Given the description of an element on the screen output the (x, y) to click on. 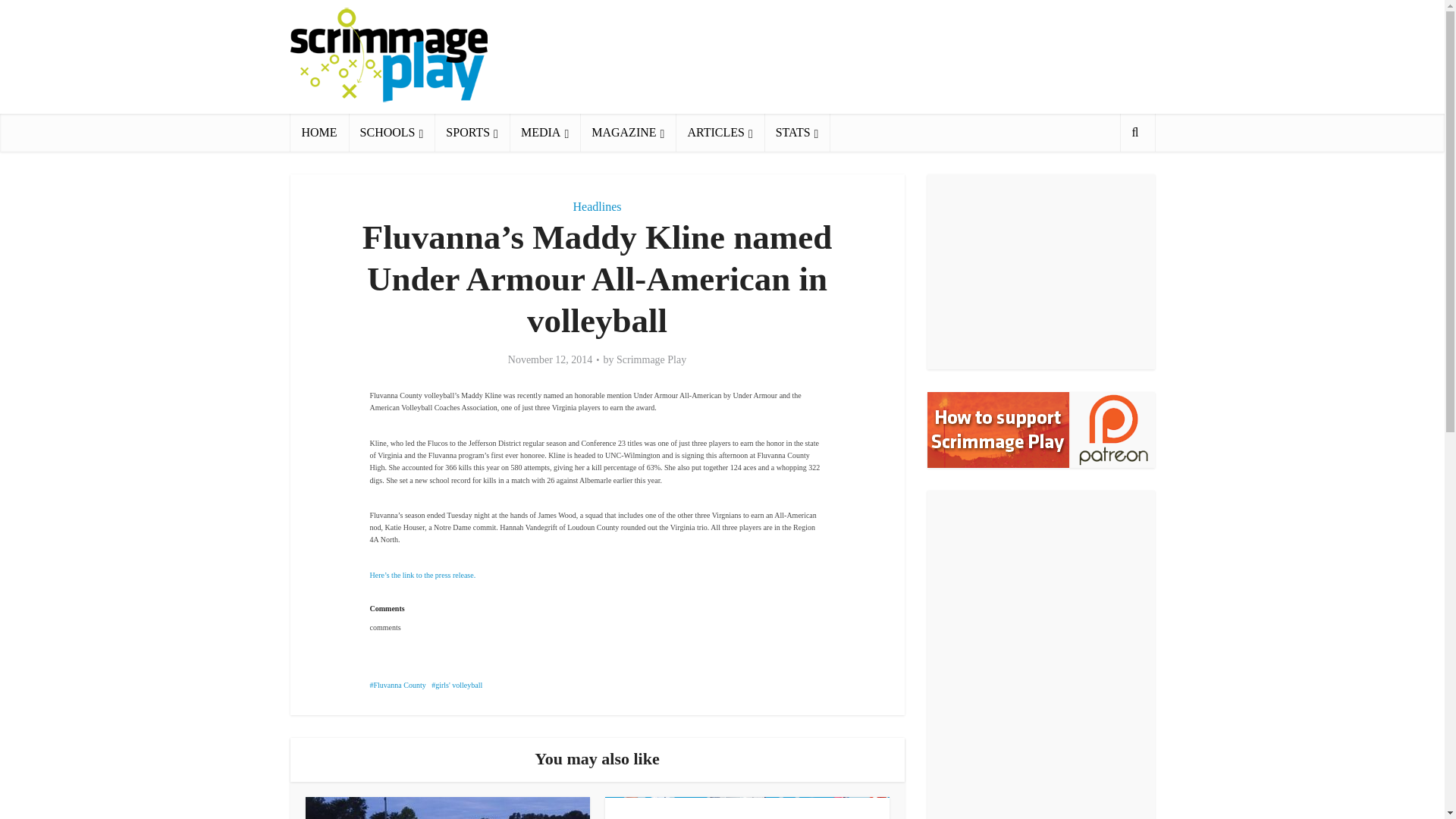
SPORTS (471, 132)
HOME (318, 132)
Advertisement (878, 56)
SCHOOLS (392, 132)
